Given the description of an element on the screen output the (x, y) to click on. 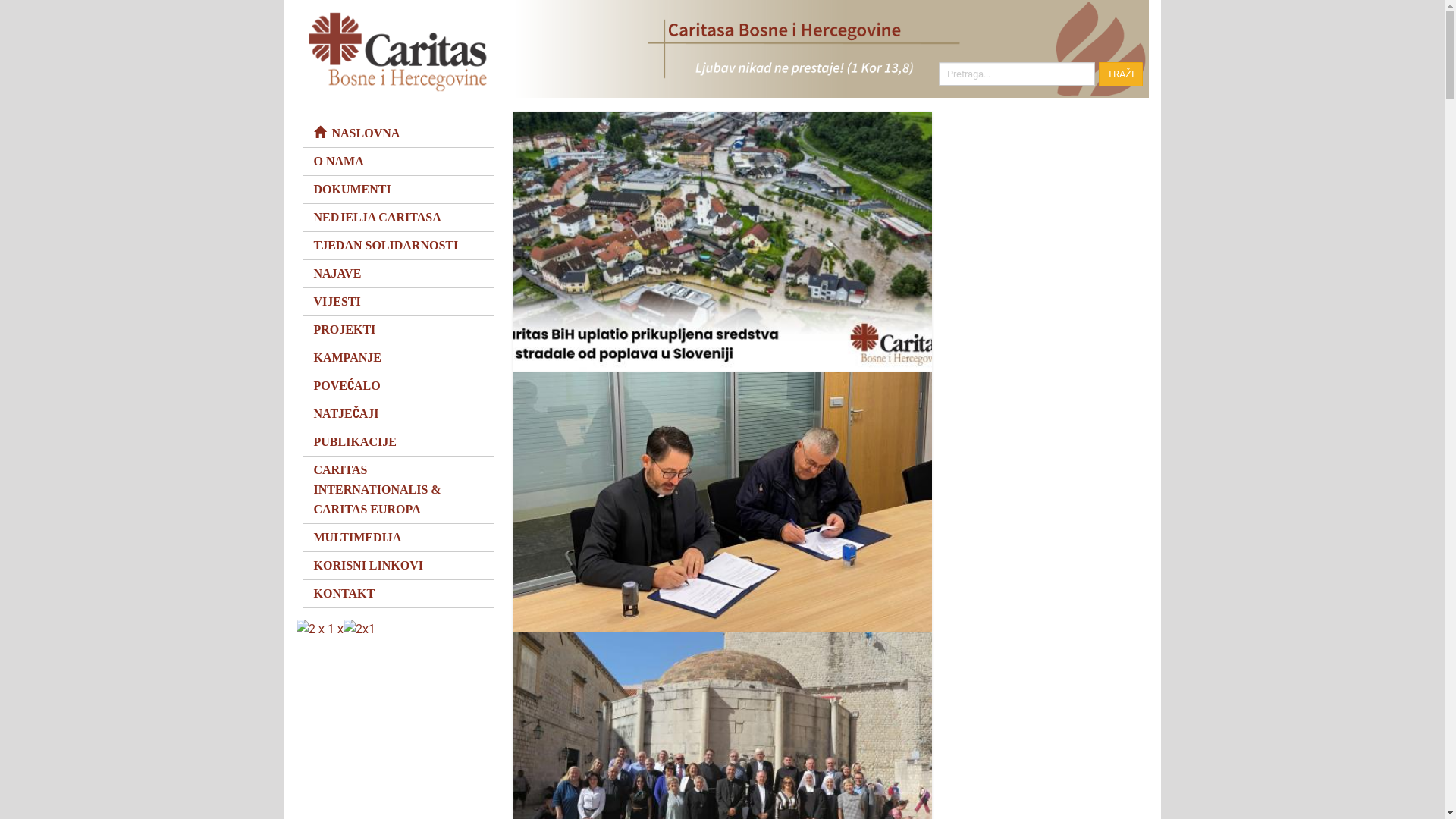
KORISNI LINKOVI Element type: text (397, 565)
PUBLIKACIJE Element type: text (397, 441)
MULTIMEDIJA Element type: text (397, 537)
VIJESTI Element type: text (397, 301)
CARITAS INTERNATIONALIS & CARITAS EUROPA Element type: text (397, 489)
NEDJELJA CARITASA Element type: text (397, 217)
DOKUMENTI Element type: text (397, 189)
NAJAVE Element type: text (397, 273)
KAMPANJE Element type: text (397, 357)
TJEDAN SOLIDARNOSTI Element type: text (397, 245)
  NASLOVNA Element type: text (397, 133)
O NAMA Element type: text (397, 161)
KONTAKT Element type: text (397, 593)
PROJEKTI Element type: text (397, 329)
